Given the description of an element on the screen output the (x, y) to click on. 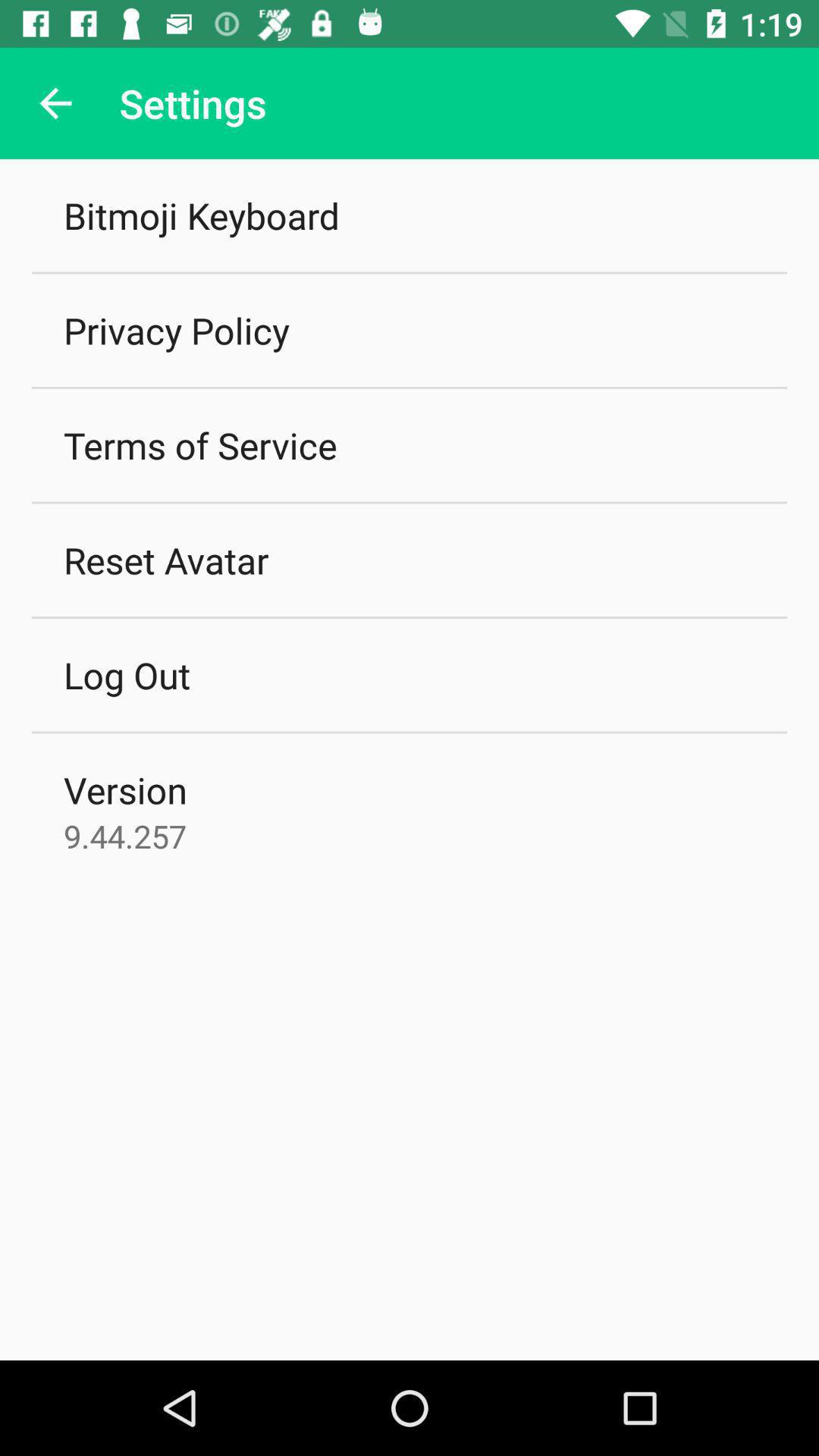
open the icon above the log out (166, 559)
